Given the description of an element on the screen output the (x, y) to click on. 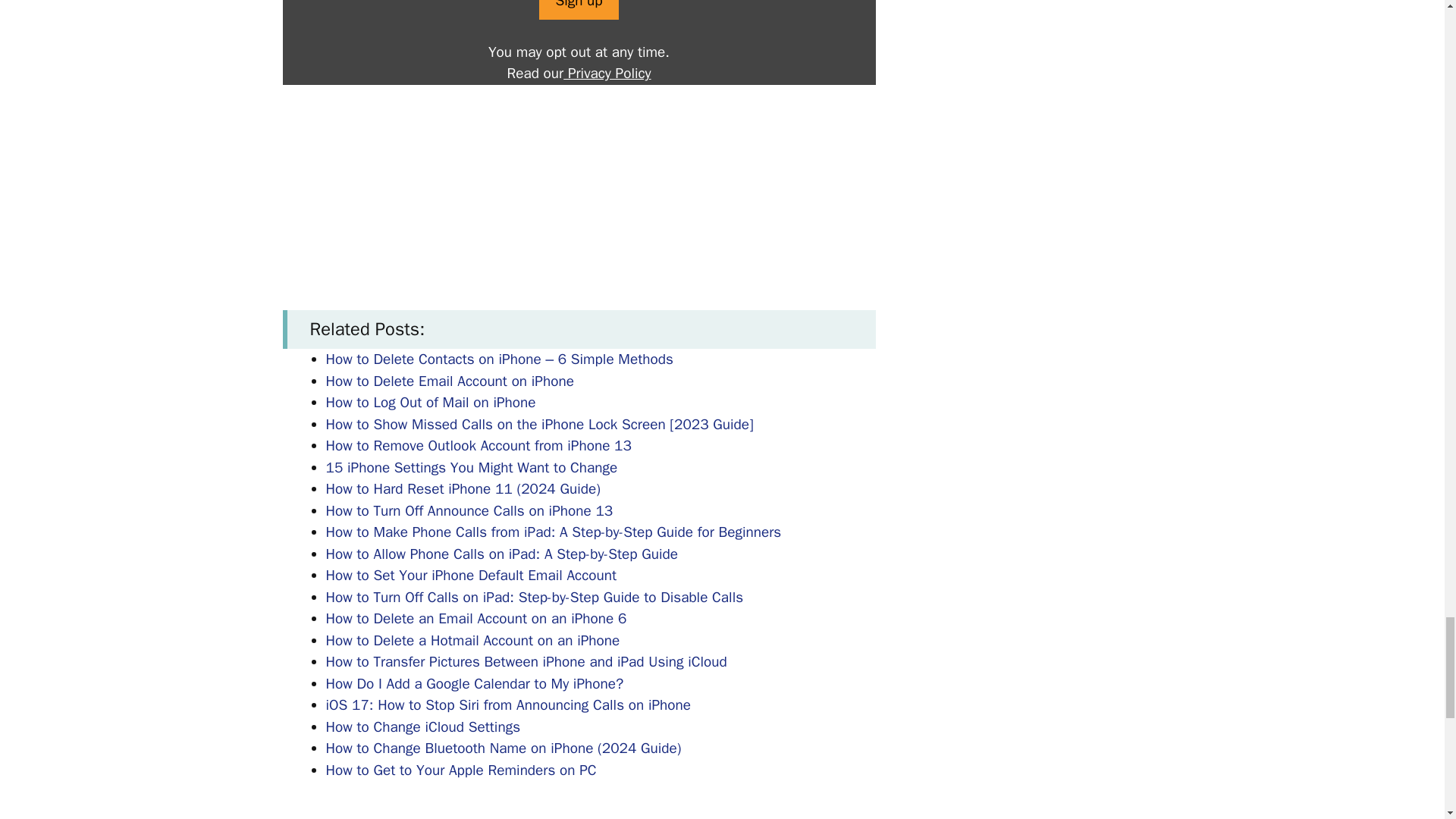
Sign up (577, 10)
How to Set Your iPhone Default Email Account (471, 575)
How to Log Out of Mail on iPhone (430, 402)
How to Delete a Hotmail Account on an iPhone (473, 640)
How to Delete an Email Account on an iPhone 6 (476, 618)
iOS 17: How to Stop Siri from Announcing Calls on iPhone (508, 705)
How to Allow Phone Calls on iPad: A Step-by-Step Guide (502, 554)
How to Delete Email Account on iPhone (449, 381)
